Given the description of an element on the screen output the (x, y) to click on. 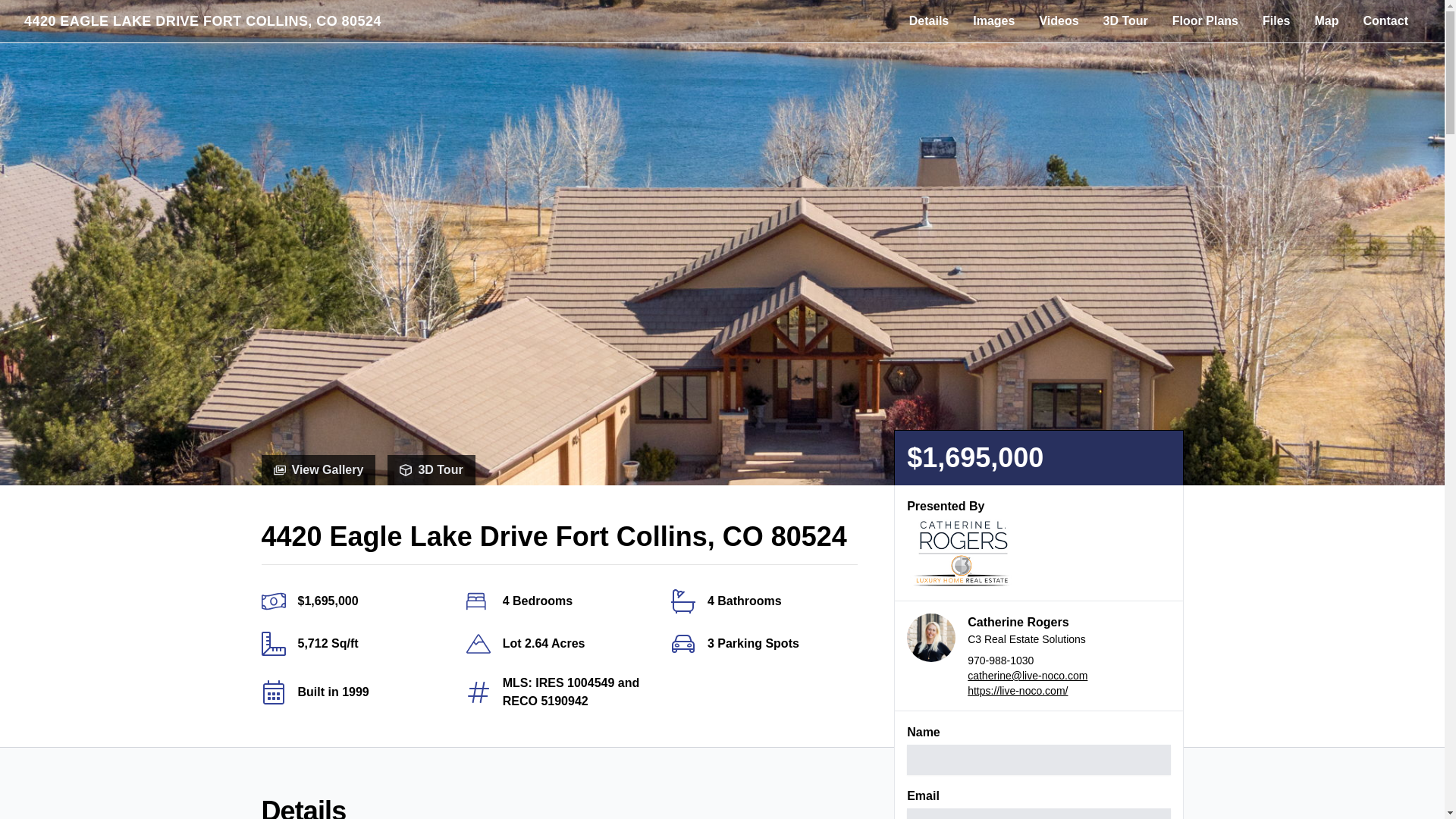
3D Tour (1125, 20)
Map (1326, 20)
3D Tour (430, 470)
Details (928, 20)
Contact (1386, 20)
4420 EAGLE LAKE DRIVE FORT COLLINS, CO 80524 (202, 20)
Videos (1058, 20)
Floor Plans (1205, 20)
View Gallery (317, 470)
C3 Real Estate Solutions (1027, 690)
970-988-1030 (1027, 660)
Images (993, 20)
Back to the Top (202, 20)
Files (1275, 20)
